Given the description of an element on the screen output the (x, y) to click on. 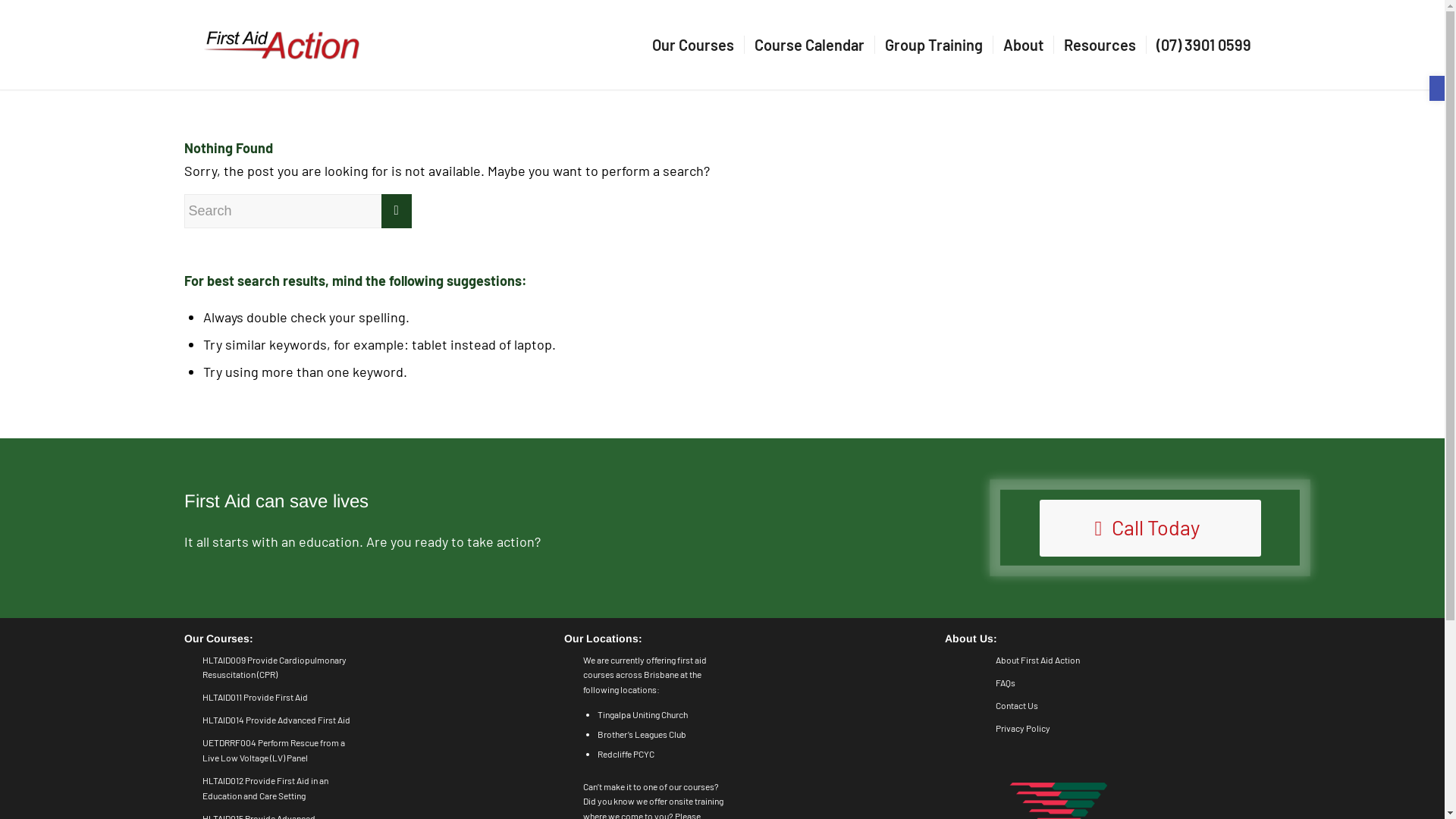
HLTAID009 Provide Cardiopulmonary Resuscitation (CPR) Element type: text (274, 667)
Resources Element type: text (1098, 44)
HLTAID014 Provide Advanced First Aid Element type: text (276, 719)
Call Today Element type: text (1149, 527)
Our Courses Element type: text (692, 44)
Open toolbar
Accessibility Tools Element type: text (1436, 87)
Contact Us Element type: text (1016, 704)
HLTAID011 Provide First Aid Element type: text (254, 696)
Privacy Policy Element type: text (1022, 727)
About Element type: text (1021, 44)
FAQs Element type: text (1005, 682)
Course Calendar Element type: text (808, 44)
HLTAID012 Provide First Aid in an Education and Care Setting Element type: text (265, 787)
FA-Logo Element type: hover (280, 44)
About First Aid Action Element type: text (1037, 659)
Group Training Element type: text (932, 44)
UETDRRF004 Perform Rescue from a Live Low Voltage (LV) Panel Element type: text (273, 749)
(07) 3901 0599 Element type: text (1202, 44)
